Given the description of an element on the screen output the (x, y) to click on. 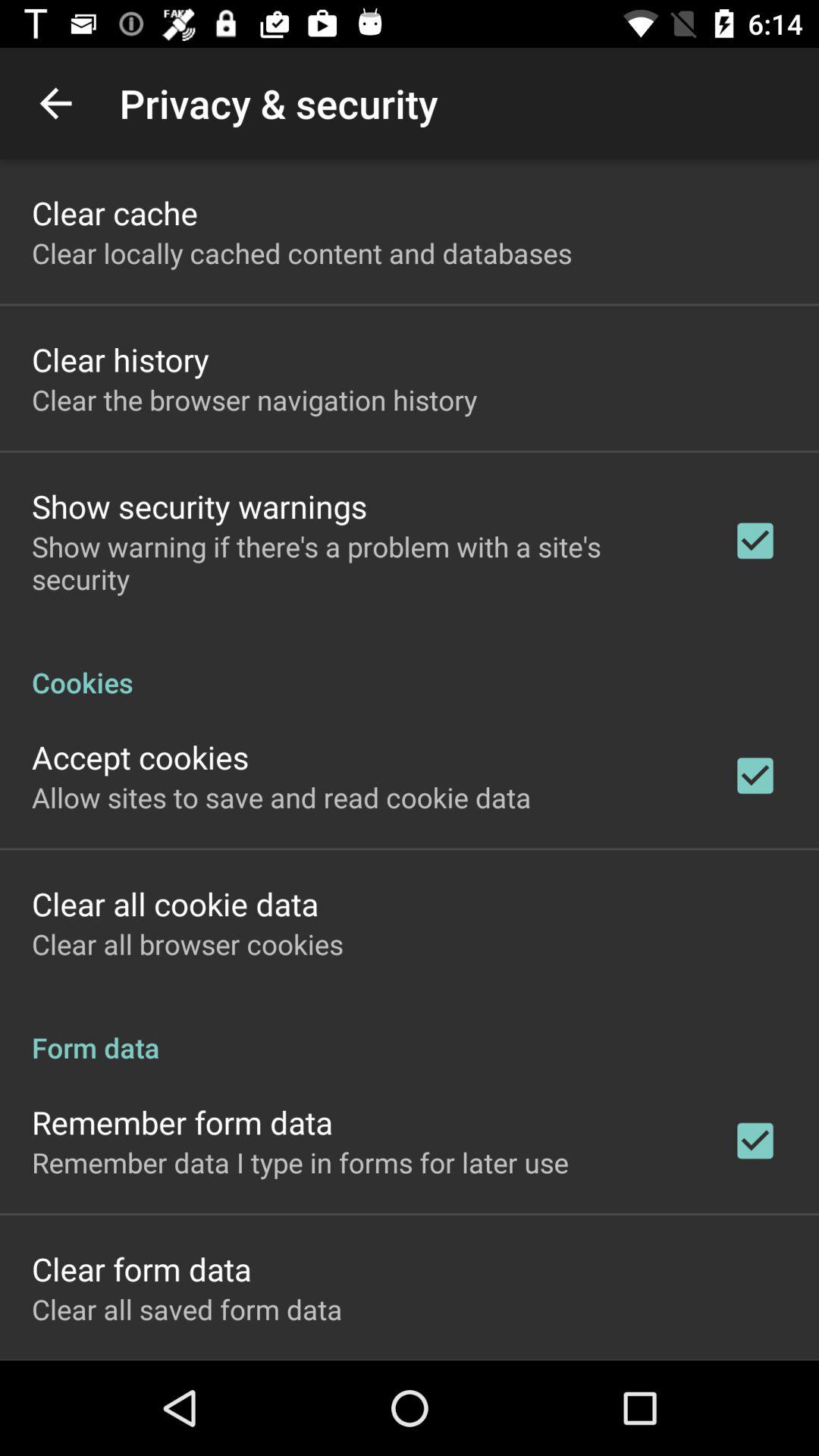
tap item below the show security warnings icon (361, 562)
